Given the description of an element on the screen output the (x, y) to click on. 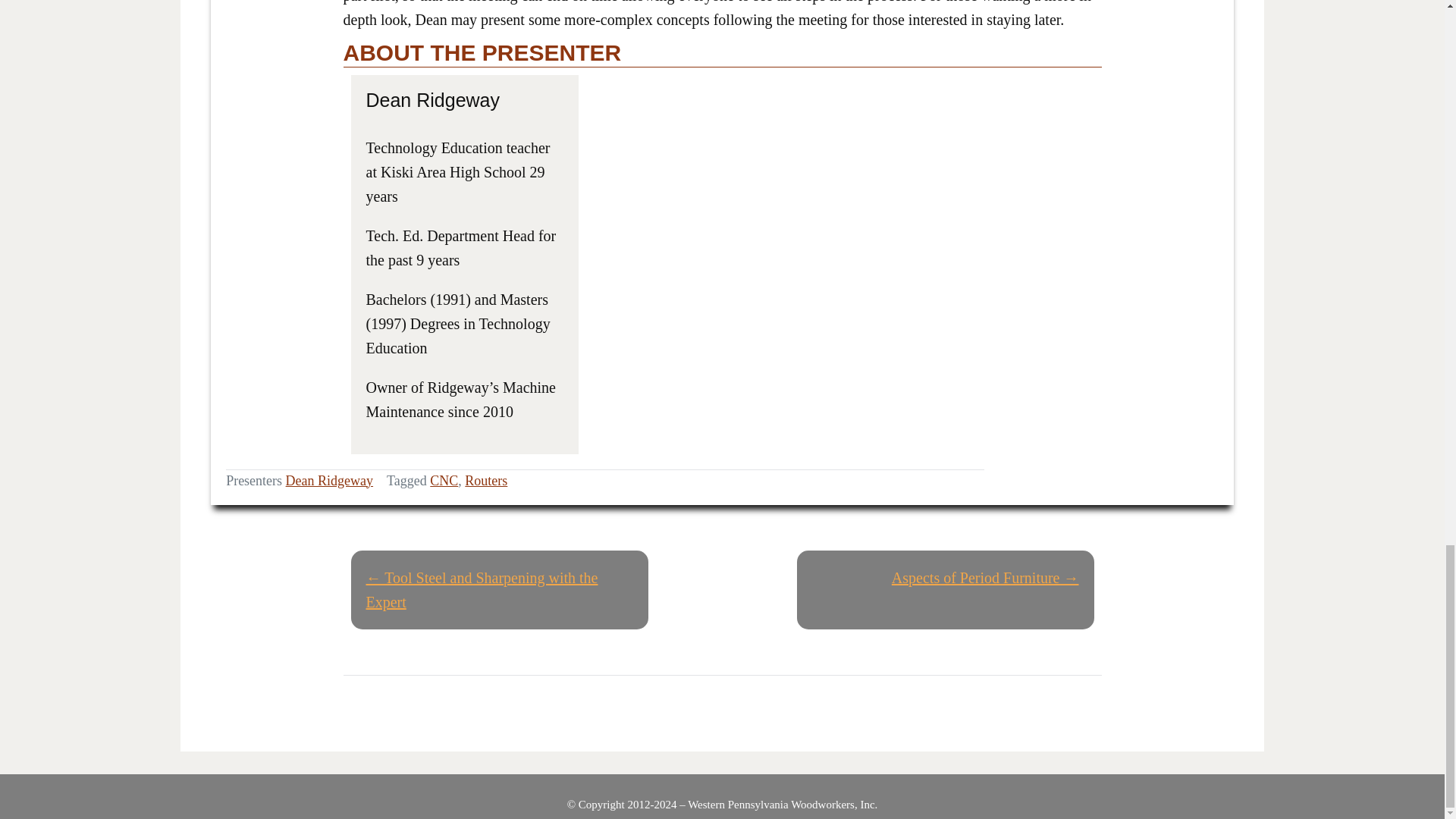
CNC (443, 480)
Routers (485, 480)
Dean Ridgeway (328, 480)
